Given the description of an element on the screen output the (x, y) to click on. 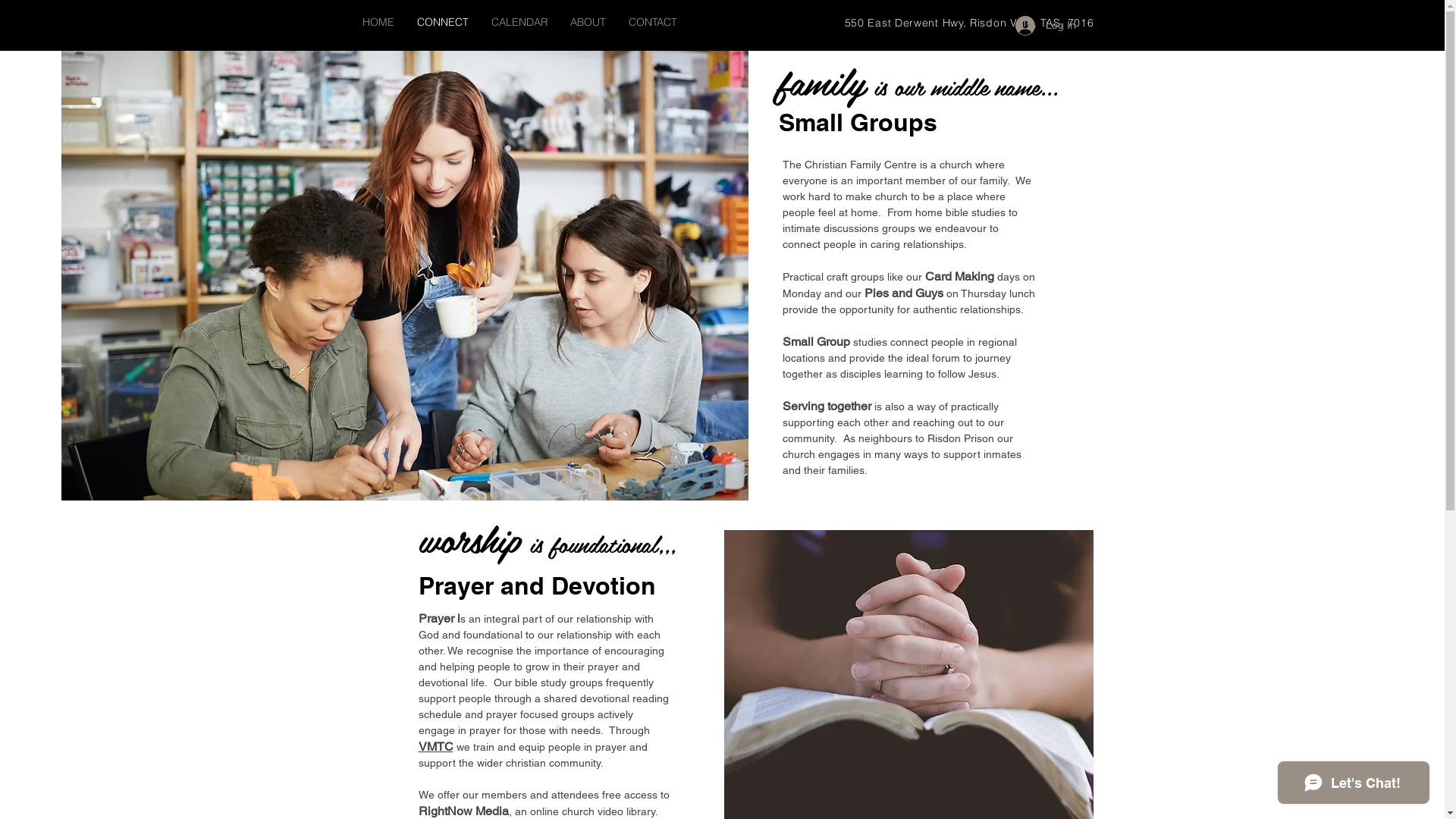
VMTC Element type: text (435, 746)
HOME Element type: text (377, 22)
ABOUT Element type: text (587, 22)
CONNECT Element type: text (441, 22)
Log In Element type: text (1044, 24)
CONTACT Element type: text (652, 22)
CALENDAR Element type: text (518, 22)
